Given the description of an element on the screen output the (x, y) to click on. 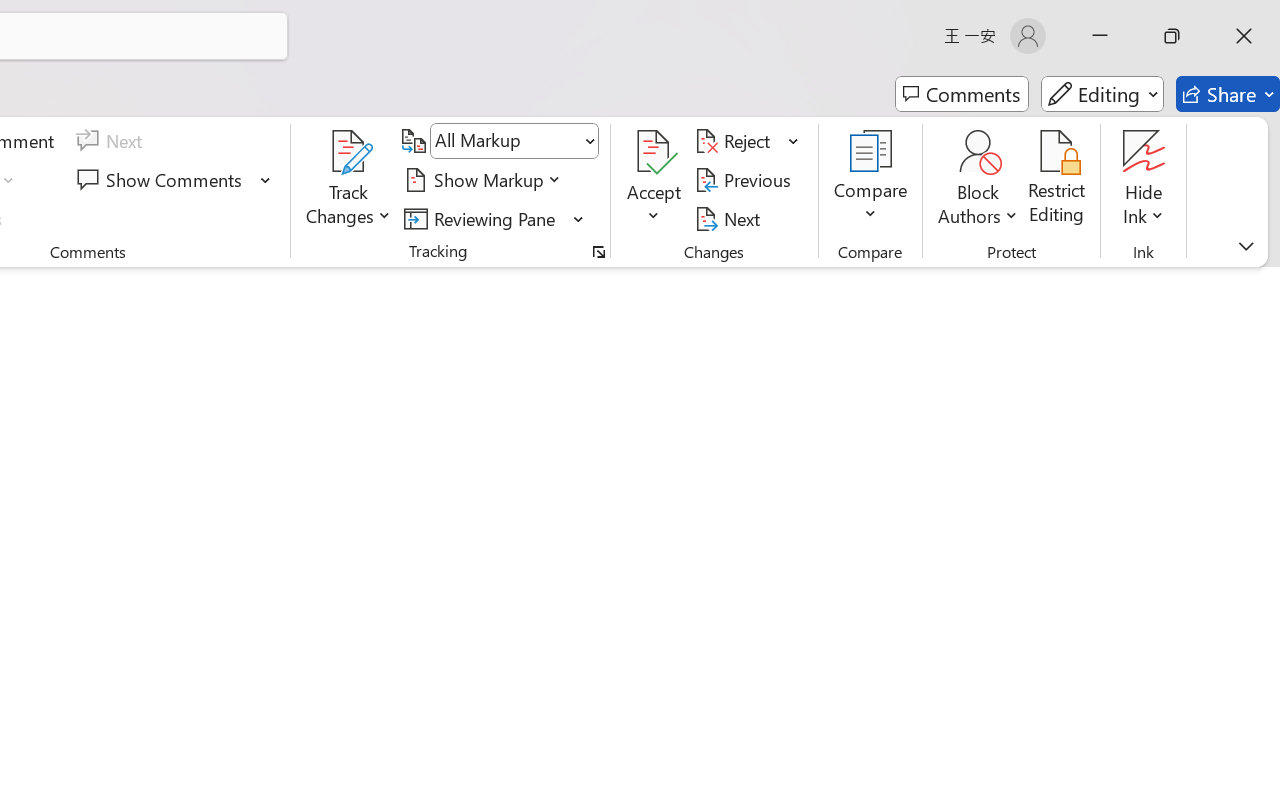
Compare (870, 179)
Next (730, 218)
Change Tracking Options... (598, 252)
Hide Ink (1144, 151)
Accept and Move to Next (653, 151)
More Options (1144, 208)
Reviewing Pane (494, 218)
Block Authors (977, 179)
Restore Down (1172, 36)
Track Changes (349, 179)
Minimize (1099, 36)
Display for Review (514, 141)
Editing (1101, 94)
Reviewing Pane (483, 218)
Hide Ink (1144, 179)
